Given the description of an element on the screen output the (x, y) to click on. 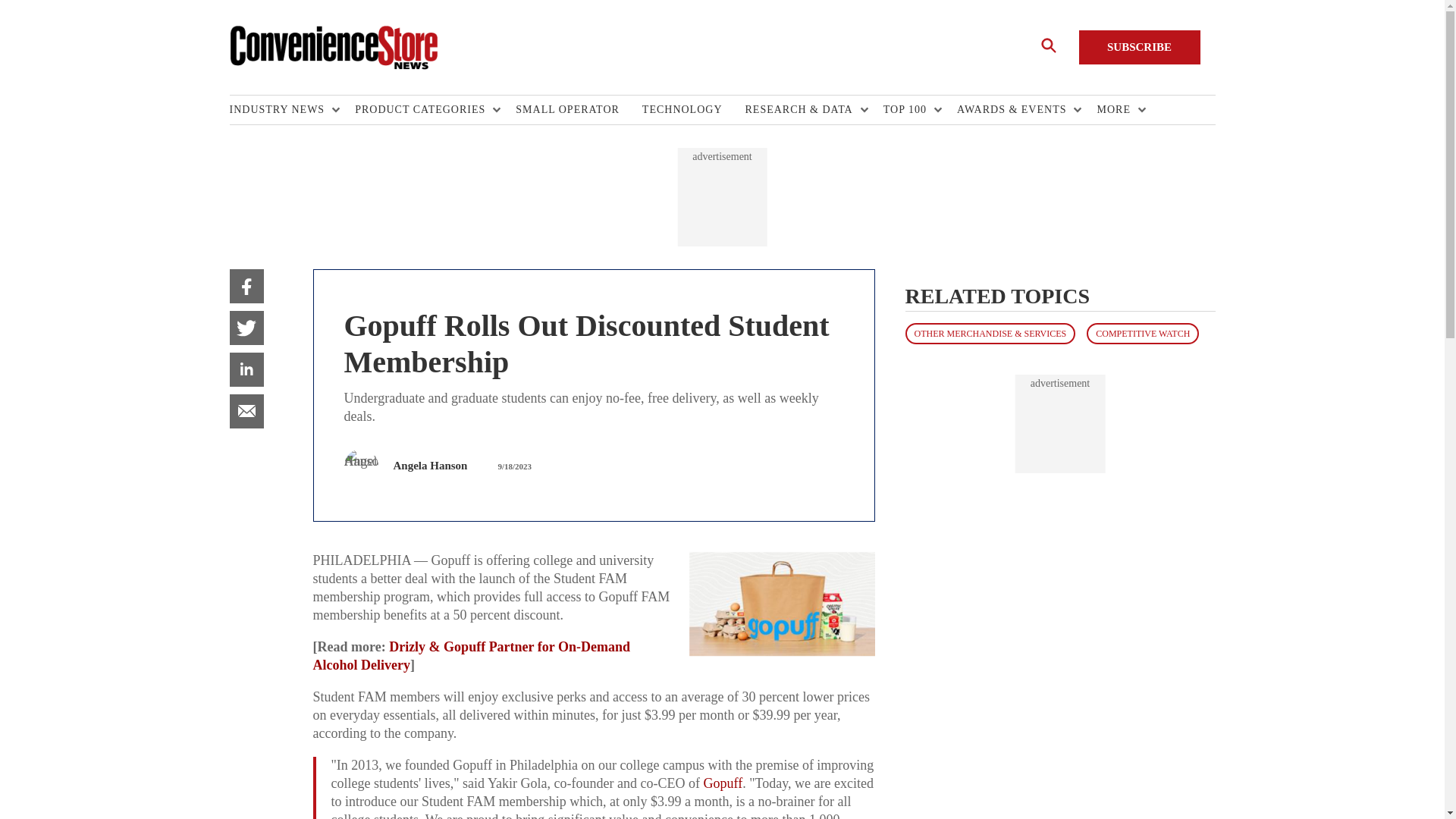
INDUSTRY NEWS (279, 109)
PRODUCT CATEGORIES (424, 109)
TECHNOLOGY (693, 109)
email (245, 410)
SMALL OPERATOR (578, 109)
SUBSCRIBE (1138, 47)
facebook (245, 286)
linkedIn (245, 369)
twitter (245, 327)
TOP 100 (908, 109)
